Given the description of an element on the screen output the (x, y) to click on. 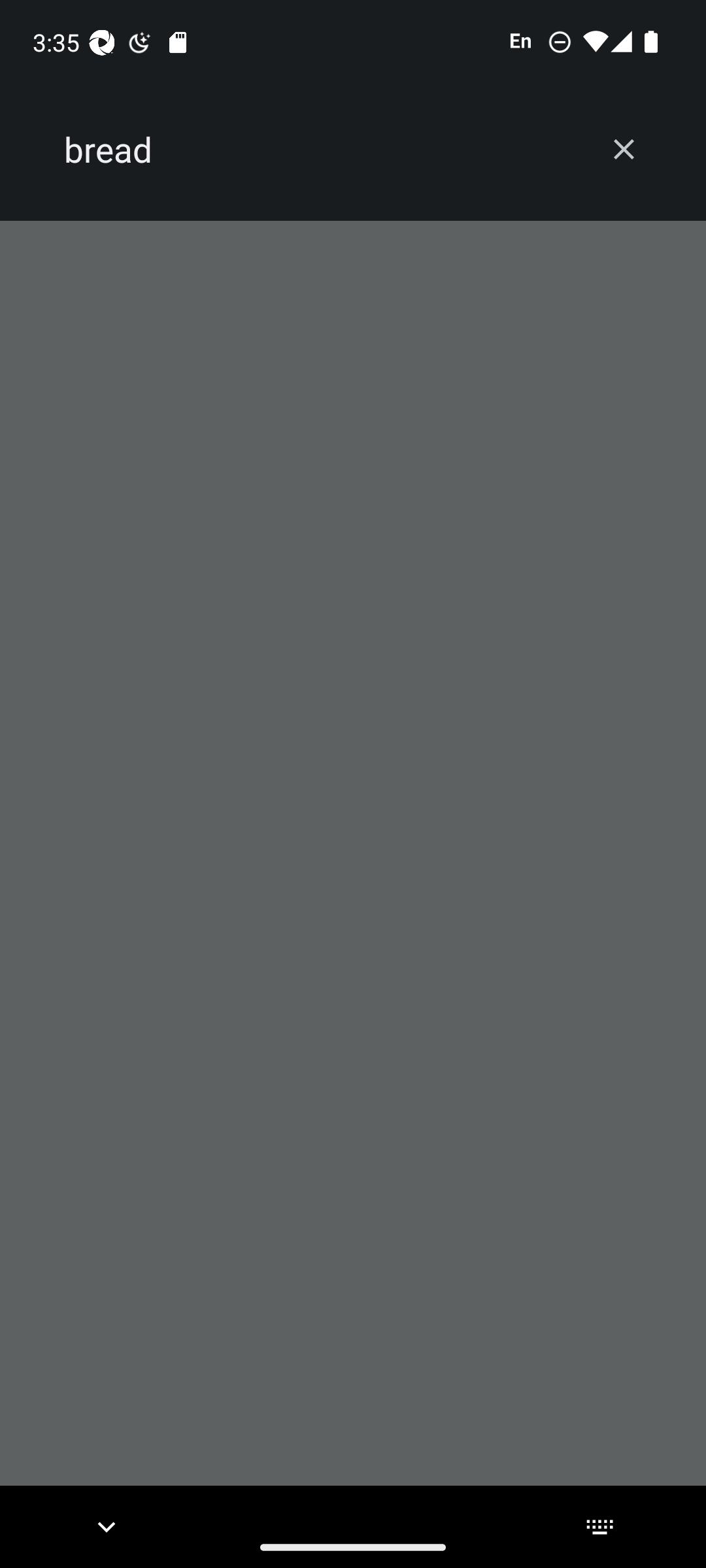
bread (321, 149)
Clear search box (623, 149)
